Given the description of an element on the screen output the (x, y) to click on. 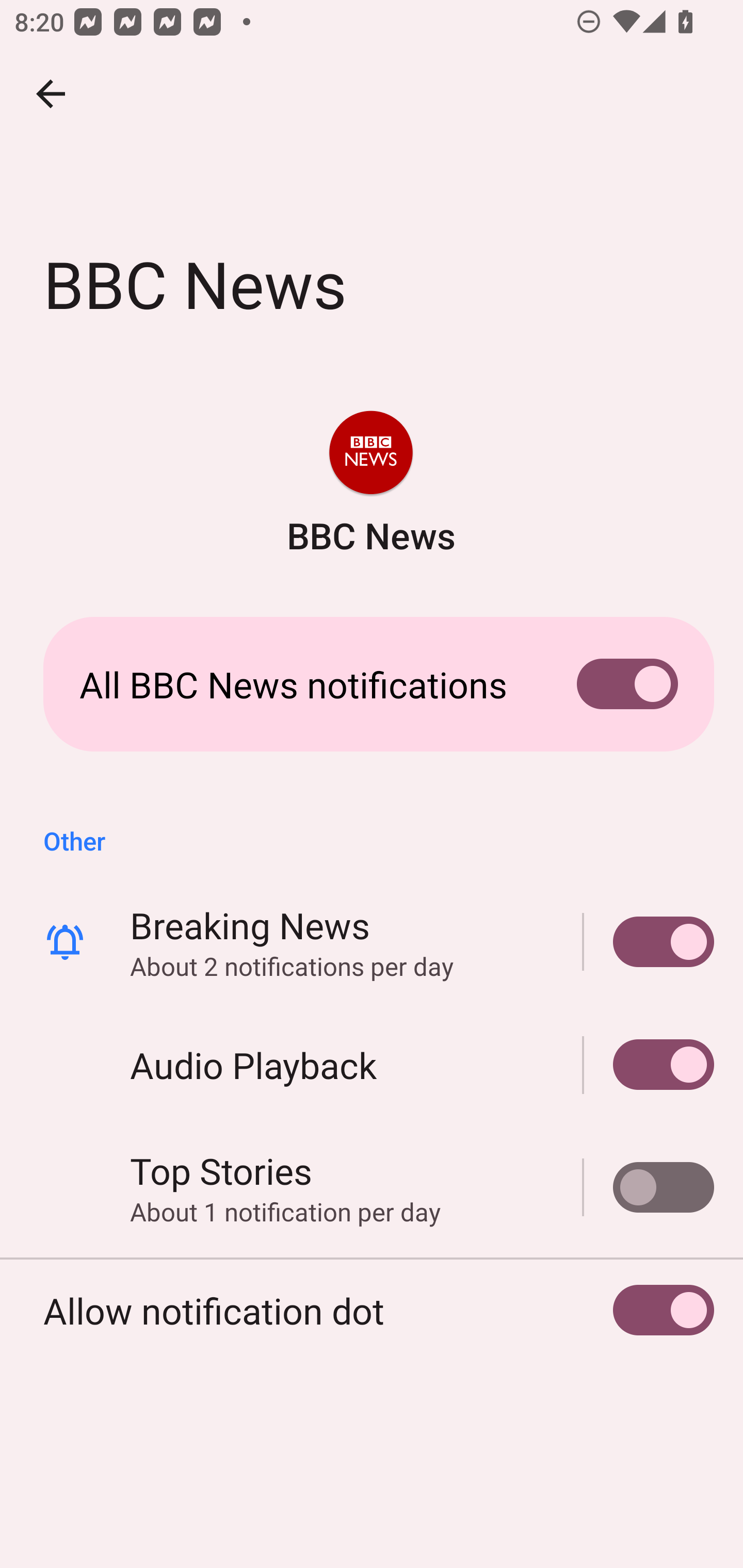
Navigate up (50, 93)
BBC News (370, 484)
All BBC News notifications (371, 684)
Breaking News (648, 941)
Audio Playback (371, 1064)
Audio Playback (648, 1064)
Top Stories (648, 1187)
Allow notification dot (371, 1309)
